Given the description of an element on the screen output the (x, y) to click on. 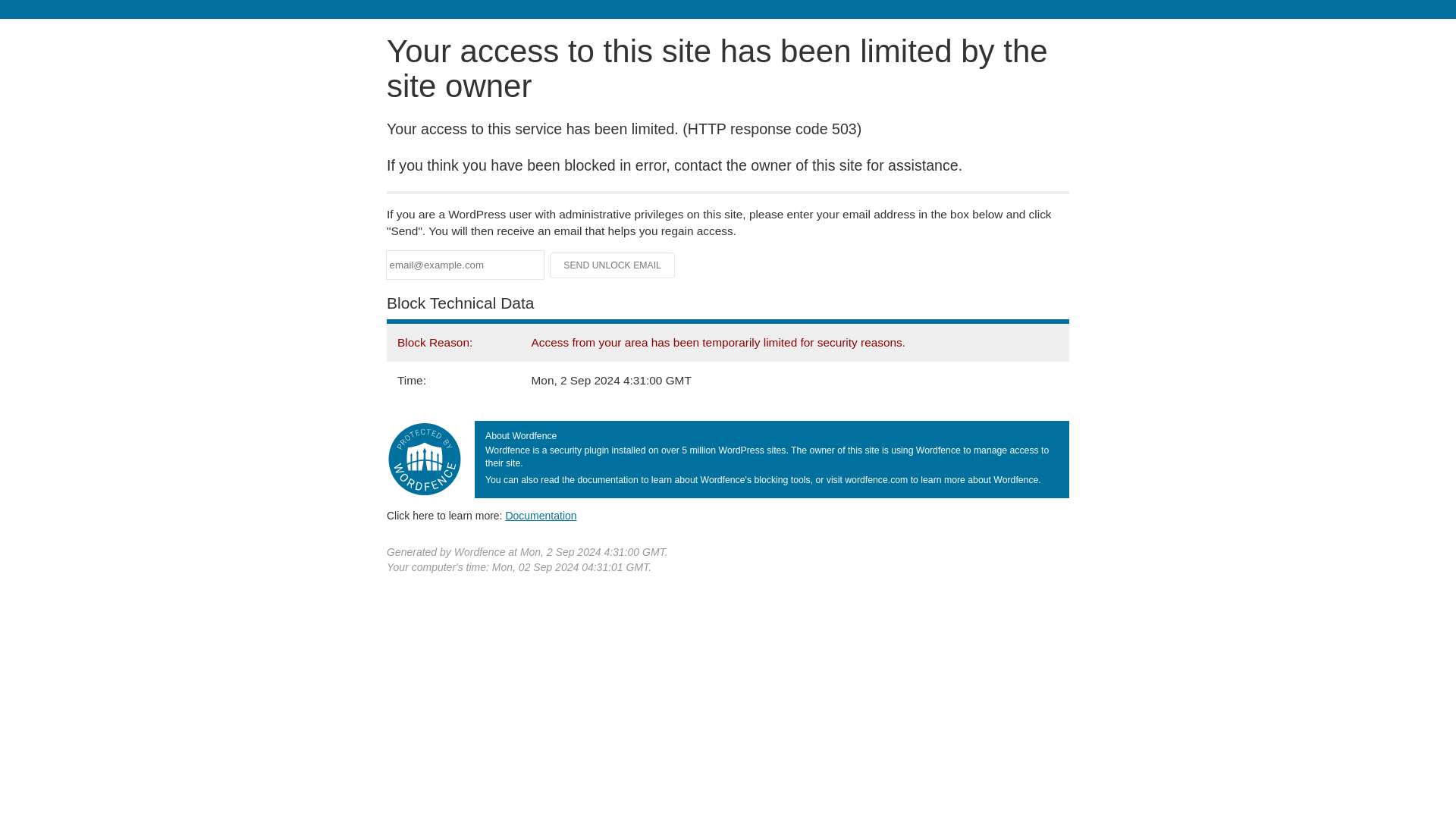
Send Unlock Email (612, 265)
Send Unlock Email (612, 265)
Documentation (540, 515)
